Given the description of an element on the screen output the (x, y) to click on. 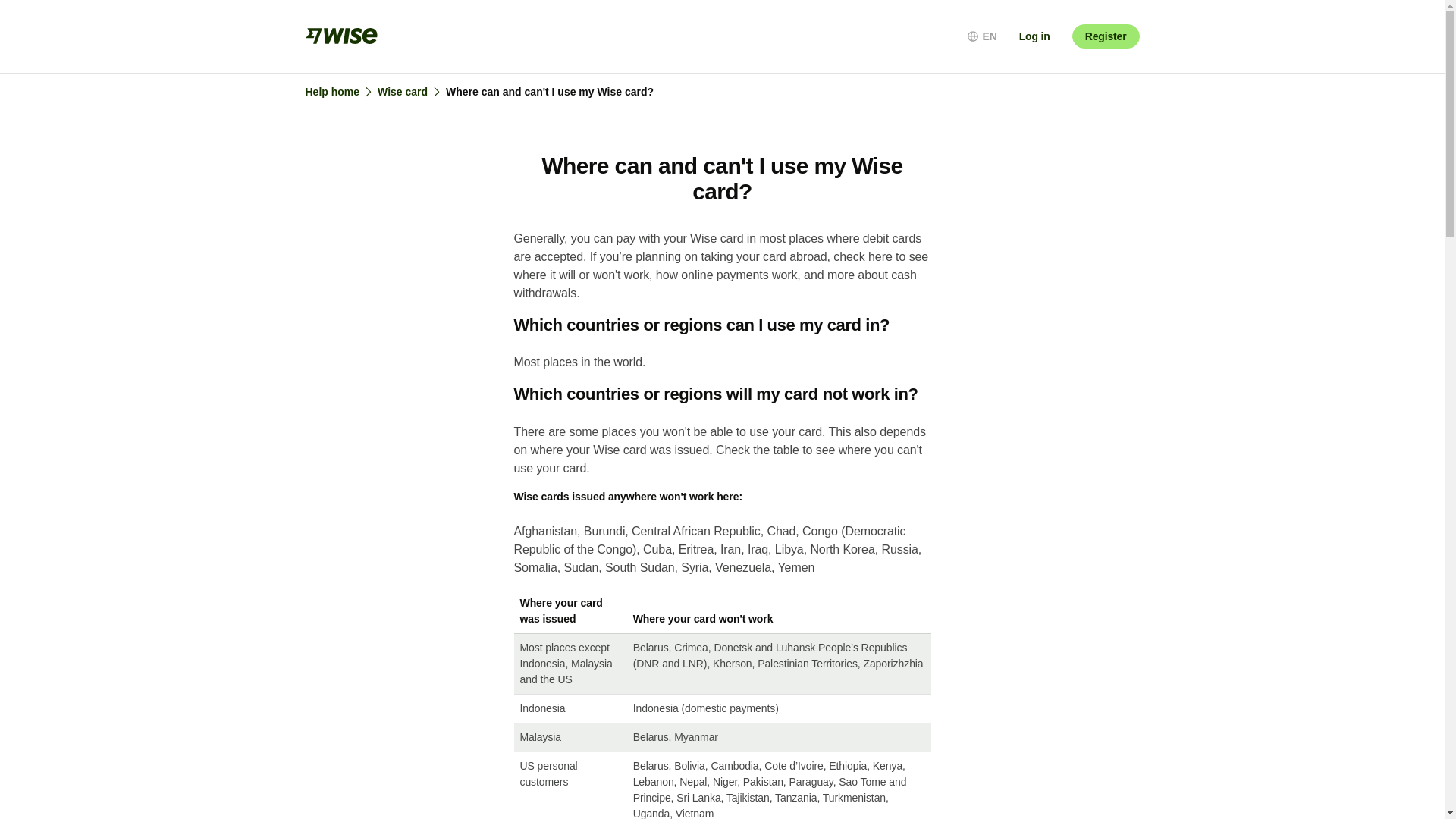
Register (1105, 36)
Log in (1034, 36)
Help home (340, 91)
Wise card (411, 91)
EN (982, 36)
